Given the description of an element on the screen output the (x, y) to click on. 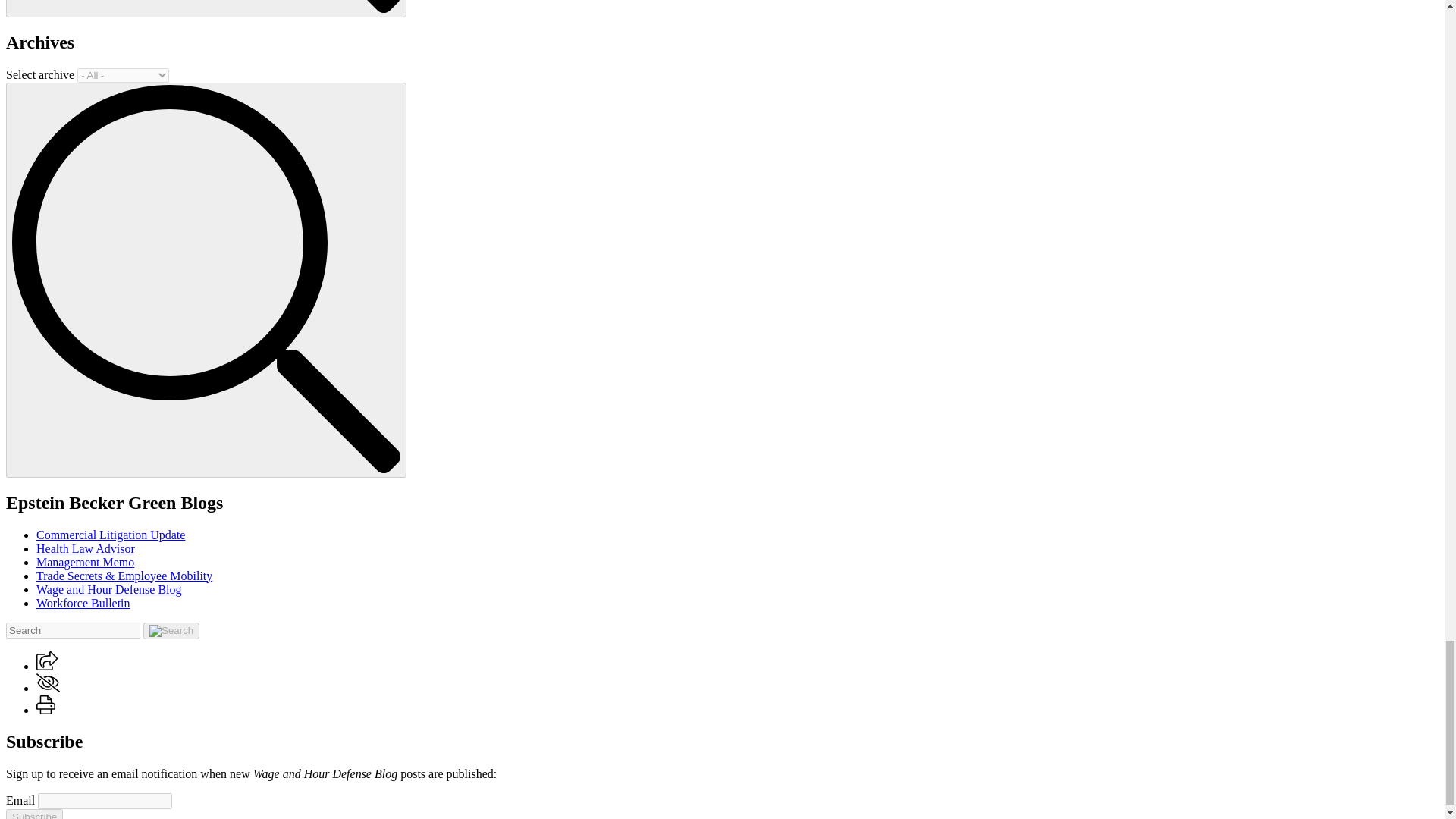
Share (47, 666)
